Given the description of an element on the screen output the (x, y) to click on. 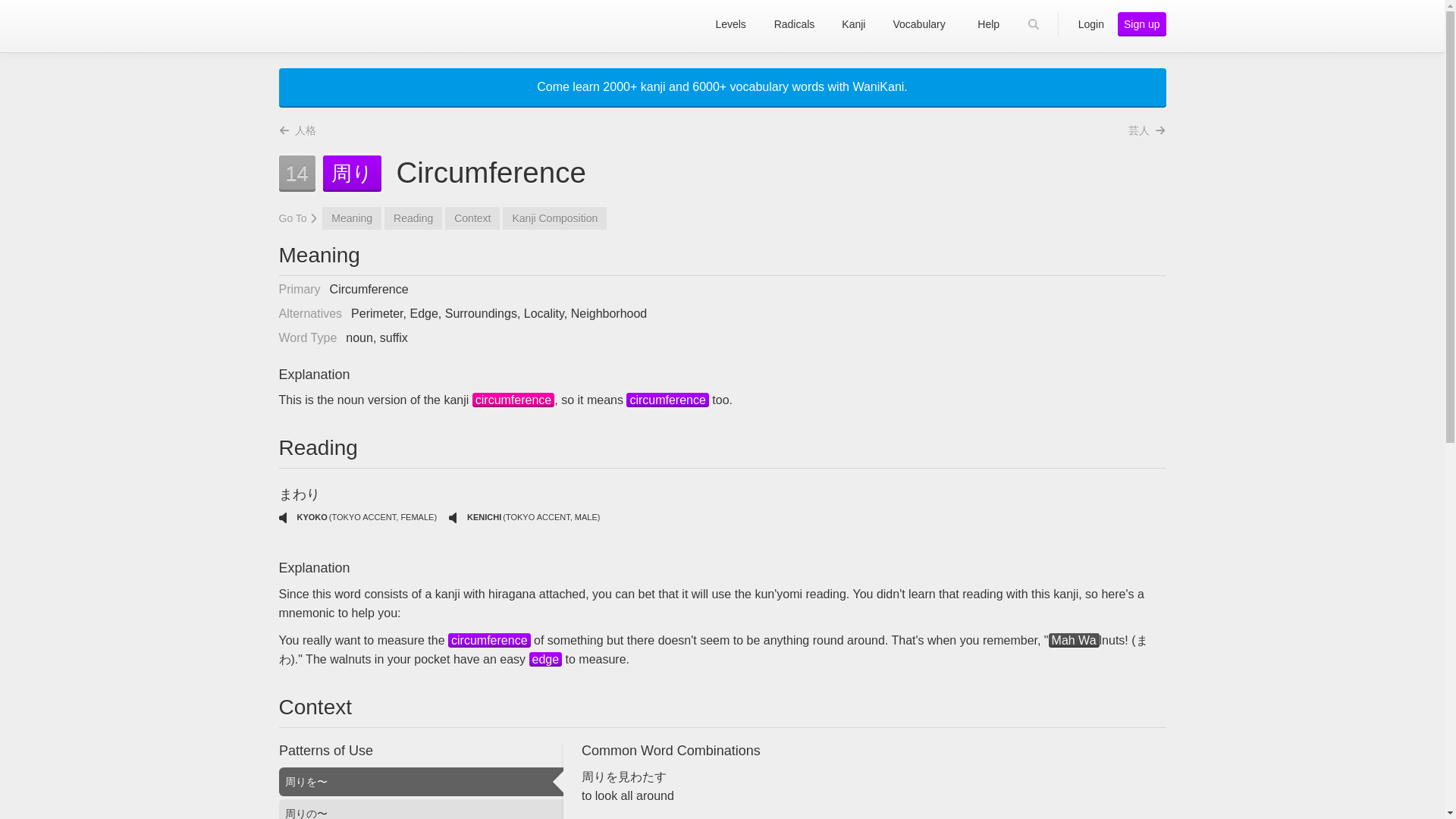
Vocabulary (666, 400)
Reading (1073, 640)
WaniKani (337, 24)
Kanji (512, 400)
Vocabulary (488, 640)
Vocabulary (545, 658)
Levels (730, 24)
